Given the description of an element on the screen output the (x, y) to click on. 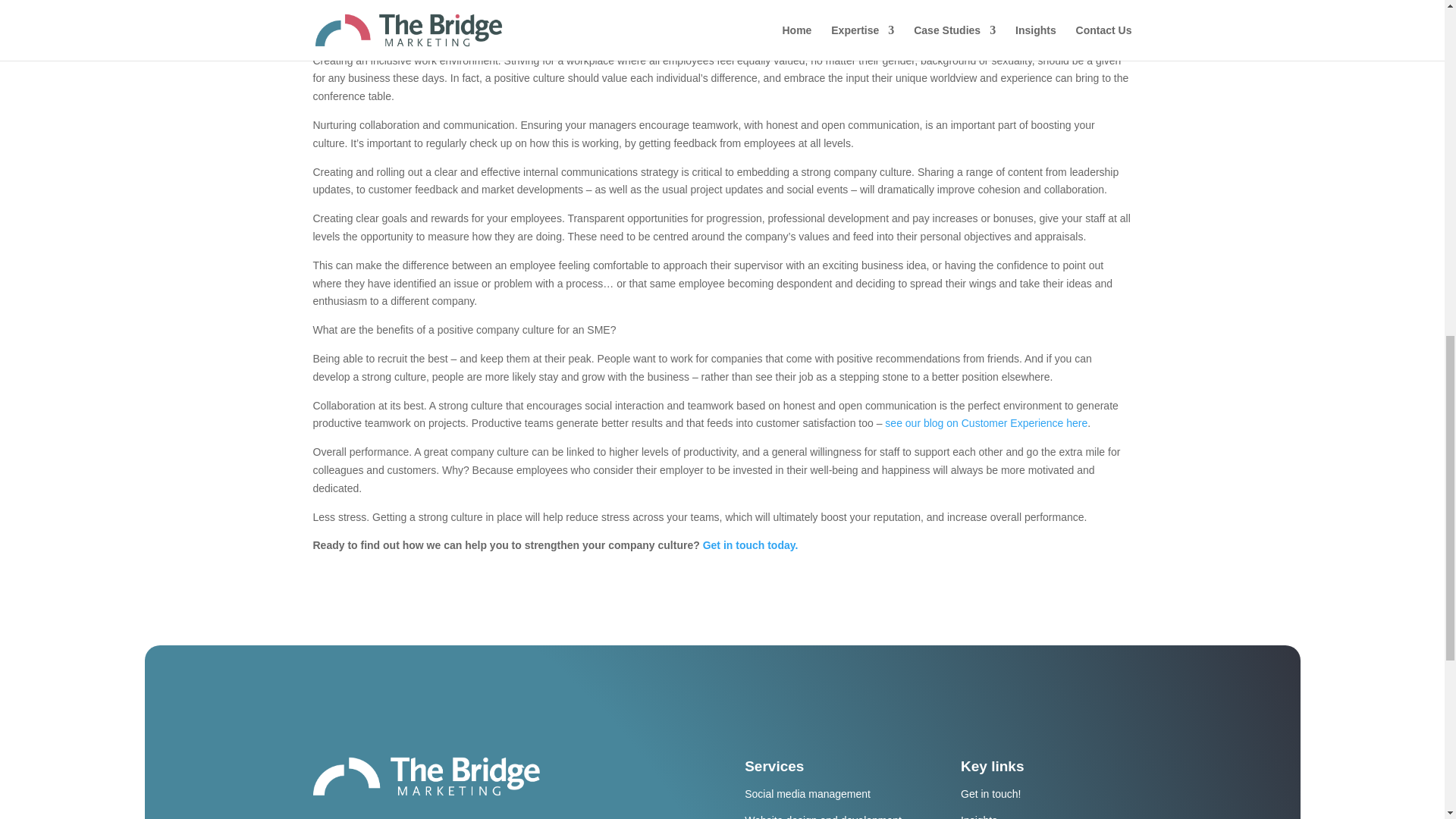
see our blog on Customer Experience here (986, 422)
Get in touch today. (750, 544)
tbm white (426, 776)
